Given the description of an element on the screen output the (x, y) to click on. 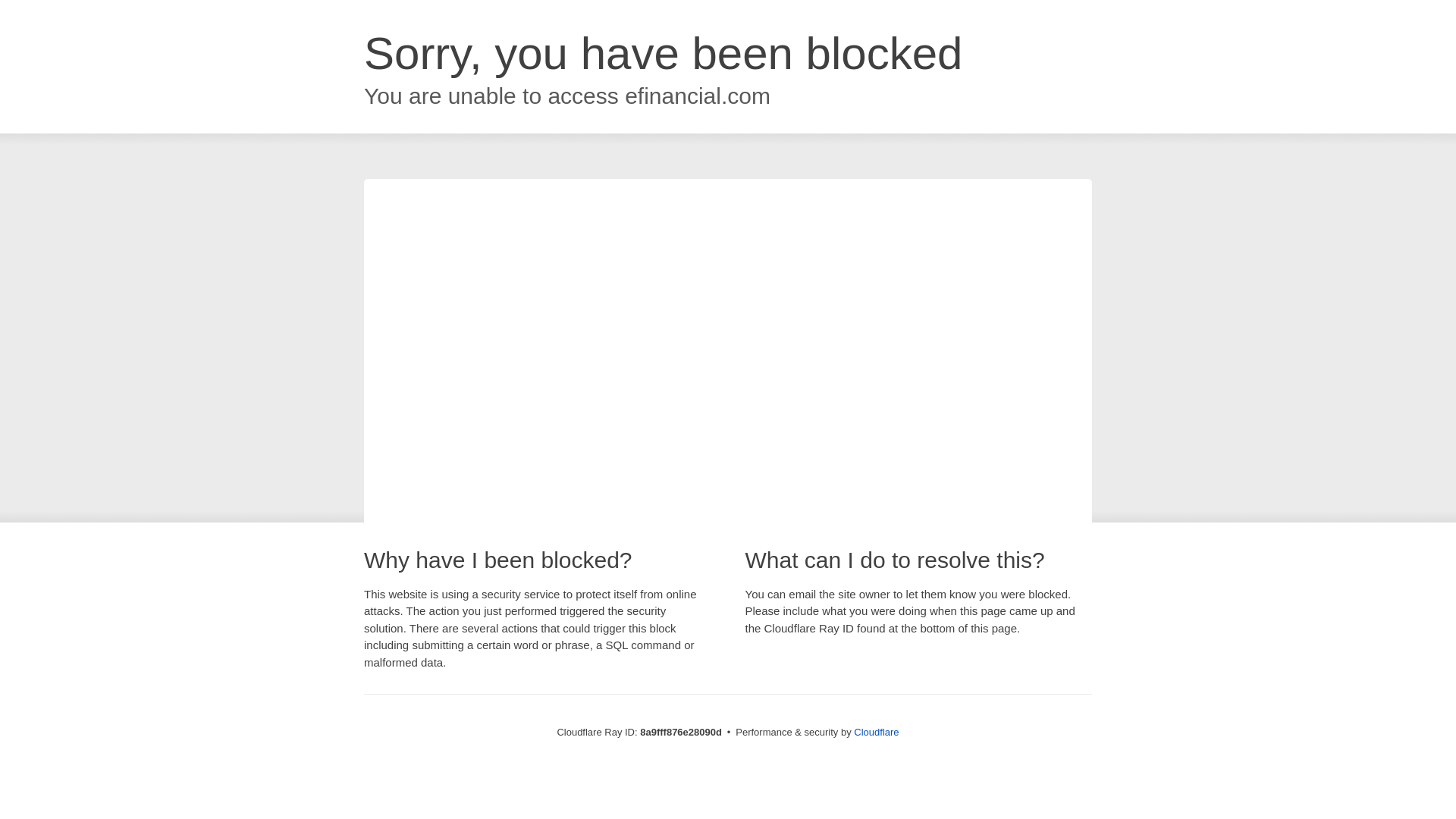
Cloudflare (875, 731)
